Given the description of an element on the screen output the (x, y) to click on. 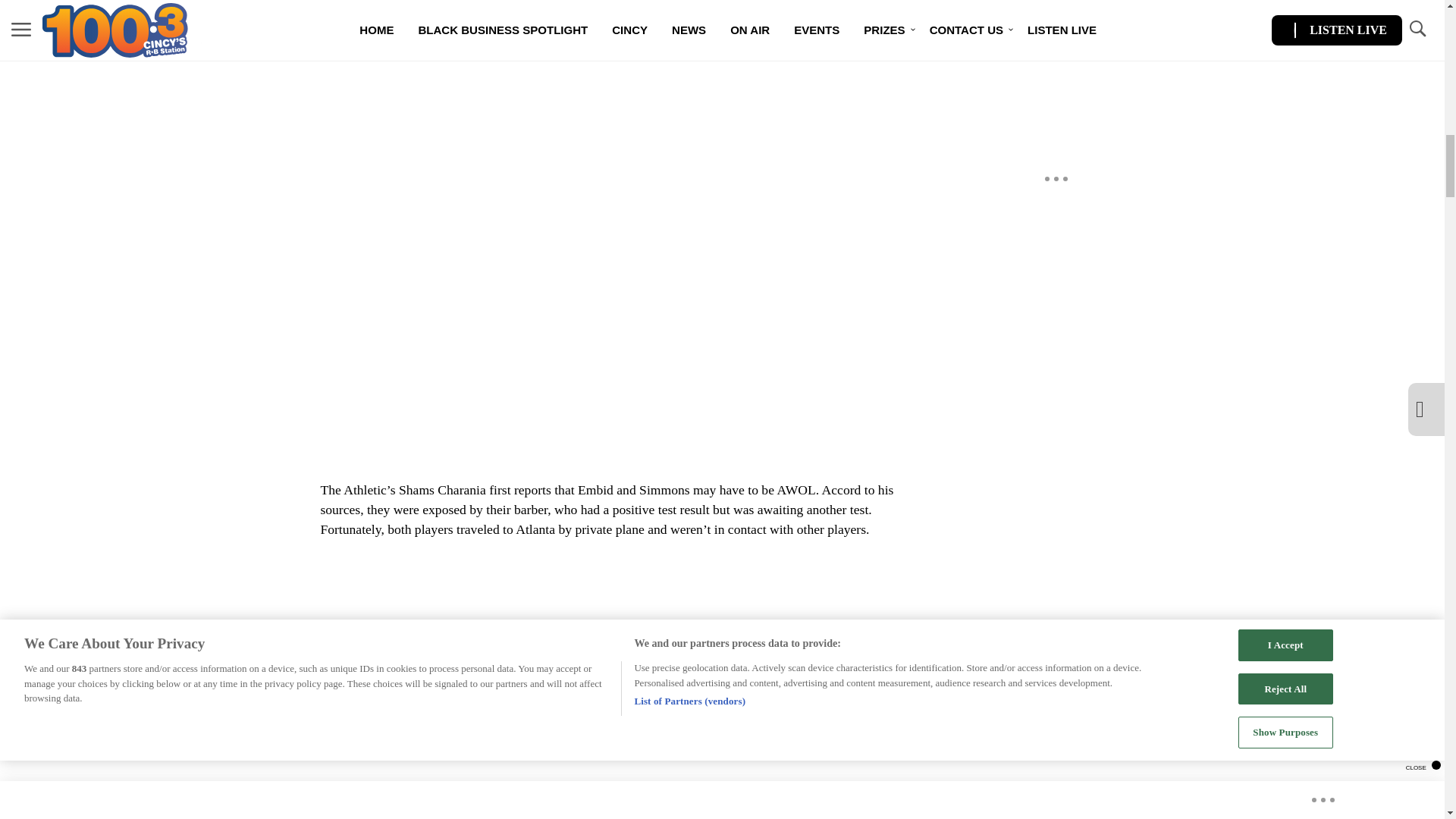
ruled Embiid and Simmons out (637, 1)
